Given the description of an element on the screen output the (x, y) to click on. 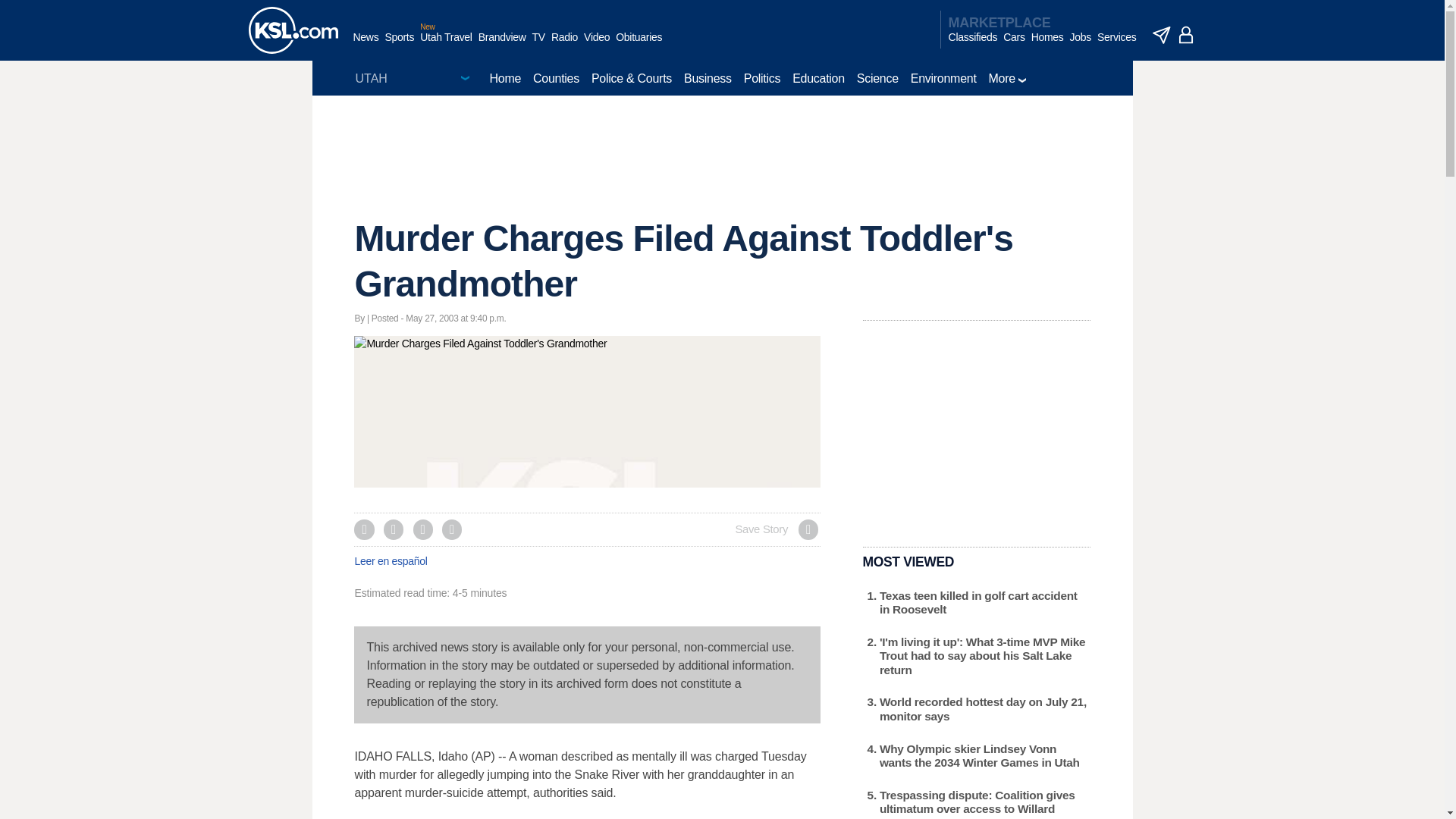
News (365, 45)
KSL homepage (292, 29)
account - logged out (1185, 34)
Utah Travel (445, 45)
KSL homepage (292, 30)
Brandview (502, 45)
TV (538, 45)
Sports (398, 45)
